Given the description of an element on the screen output the (x, y) to click on. 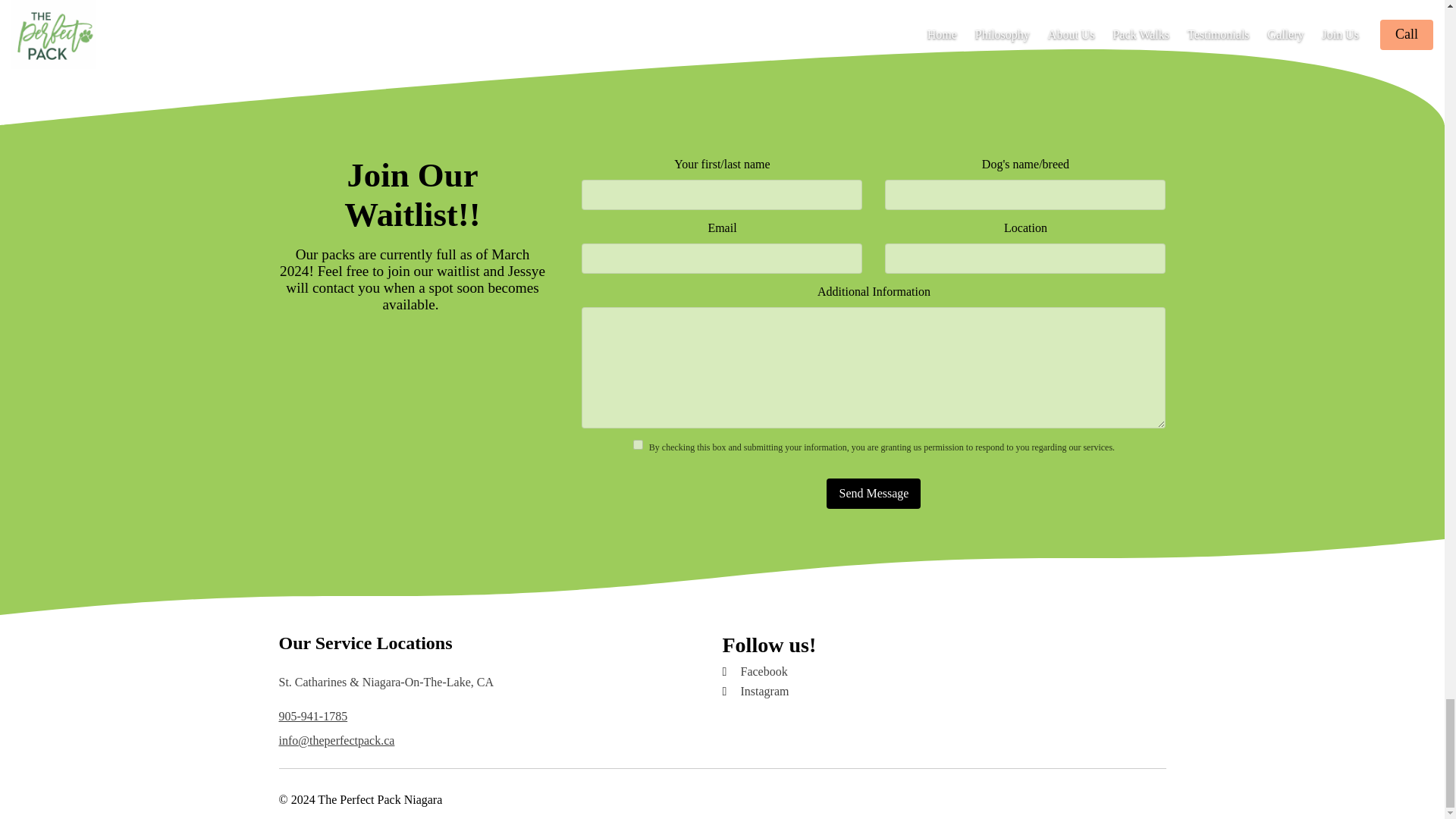
905-941-1785 (313, 716)
Facebook (937, 671)
Instagram (937, 691)
Send Message (873, 493)
false (638, 444)
